Given the description of an element on the screen output the (x, y) to click on. 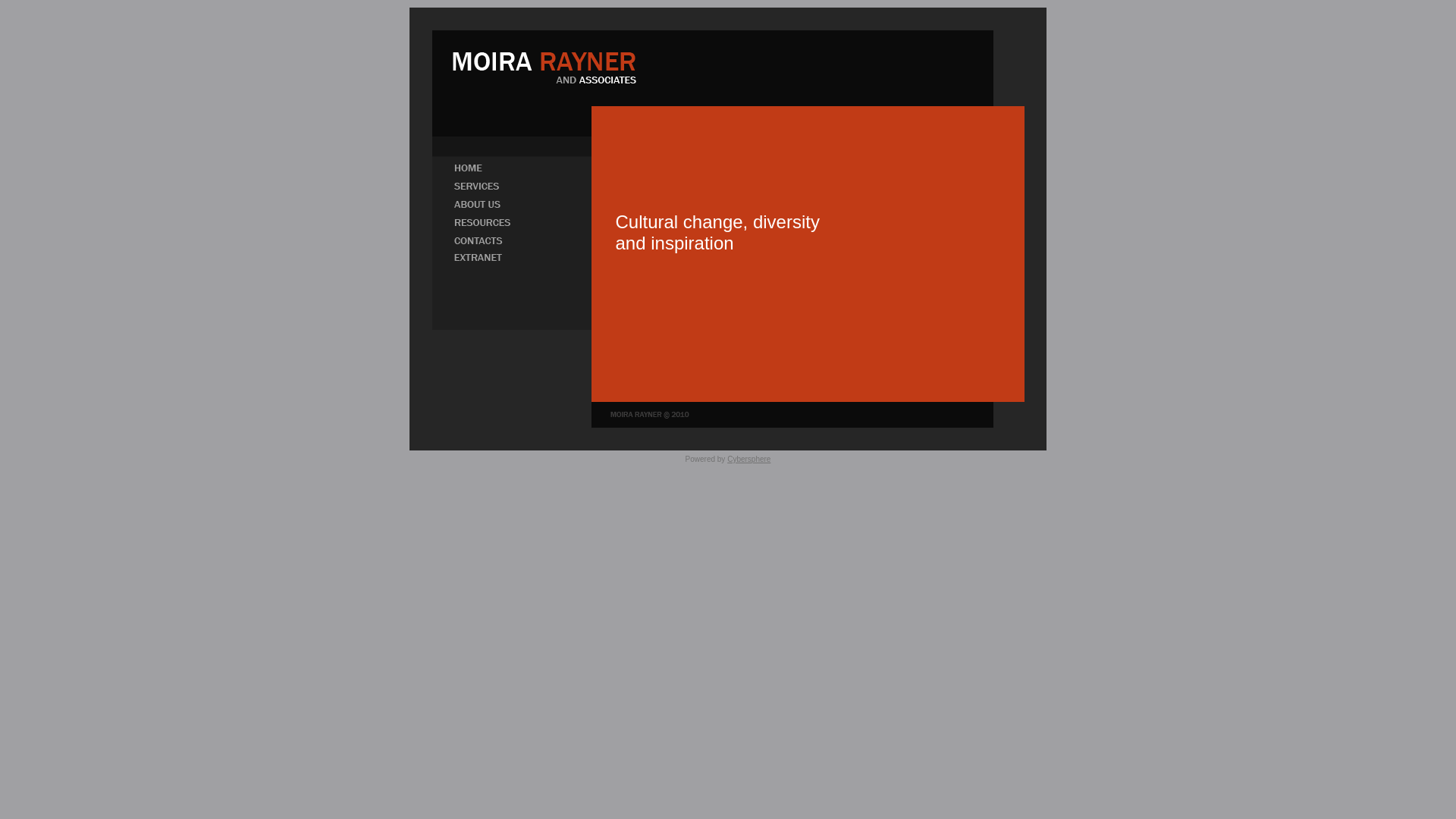
Cybersphere Element type: text (748, 459)
